Given the description of an element on the screen output the (x, y) to click on. 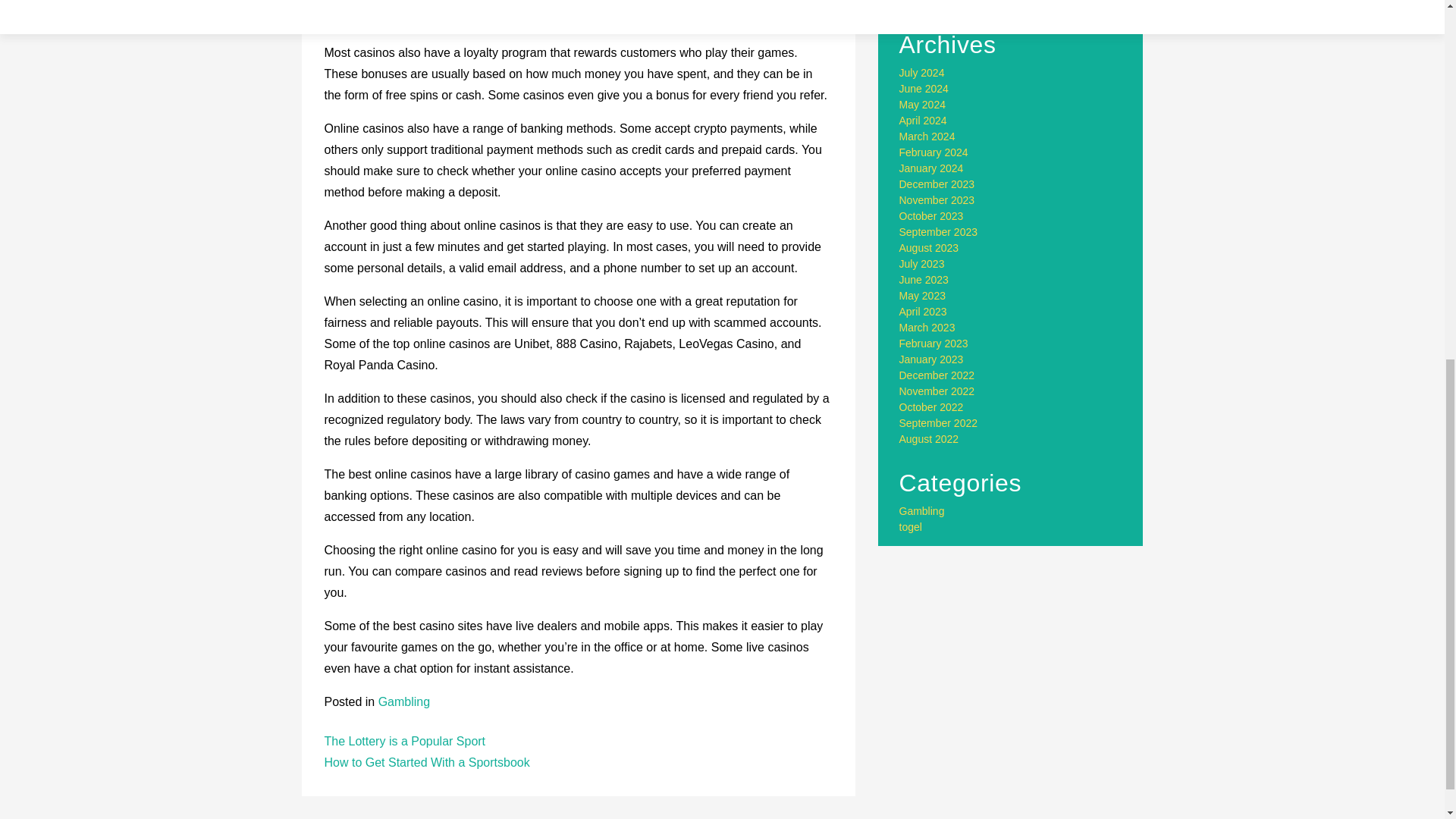
August 2022 (929, 439)
April 2024 (923, 120)
May 2024 (921, 104)
September 2023 (938, 232)
Gambling (921, 510)
July 2023 (921, 263)
November 2022 (937, 390)
December 2022 (937, 375)
Gambling (403, 701)
August 2023 (929, 247)
The Lottery is a Popular Sport (405, 740)
March 2024 (927, 136)
April 2023 (923, 311)
How to Get Started With a Sportsbook (426, 762)
February 2024 (933, 152)
